Given the description of an element on the screen output the (x, y) to click on. 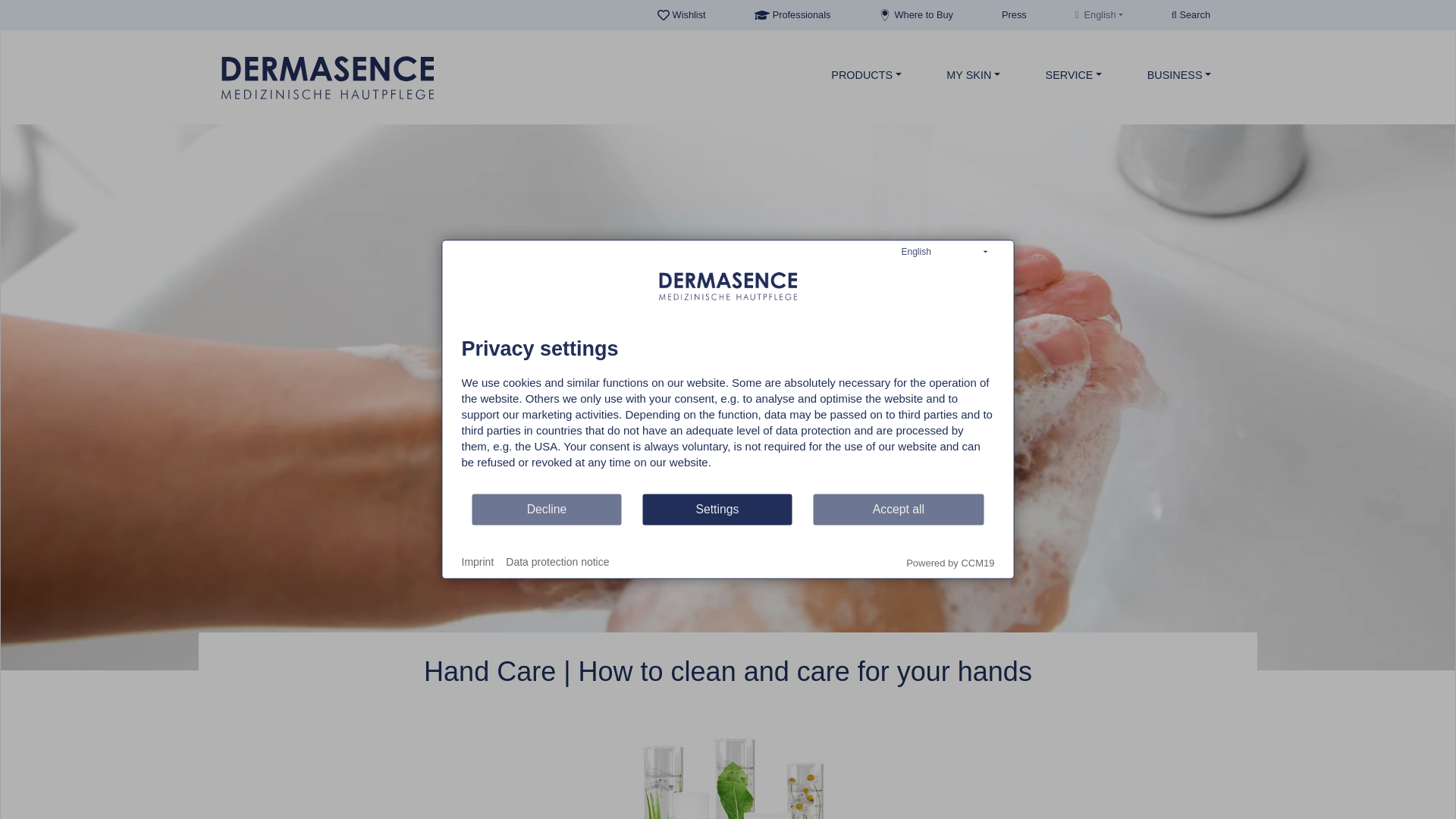
Search (1190, 14)
Where to Buy (915, 14)
  English (1099, 14)
PRODUCTS (866, 75)
Professionals (793, 14)
Wishlist (681, 14)
Press (1013, 14)
